Given the description of an element on the screen output the (x, y) to click on. 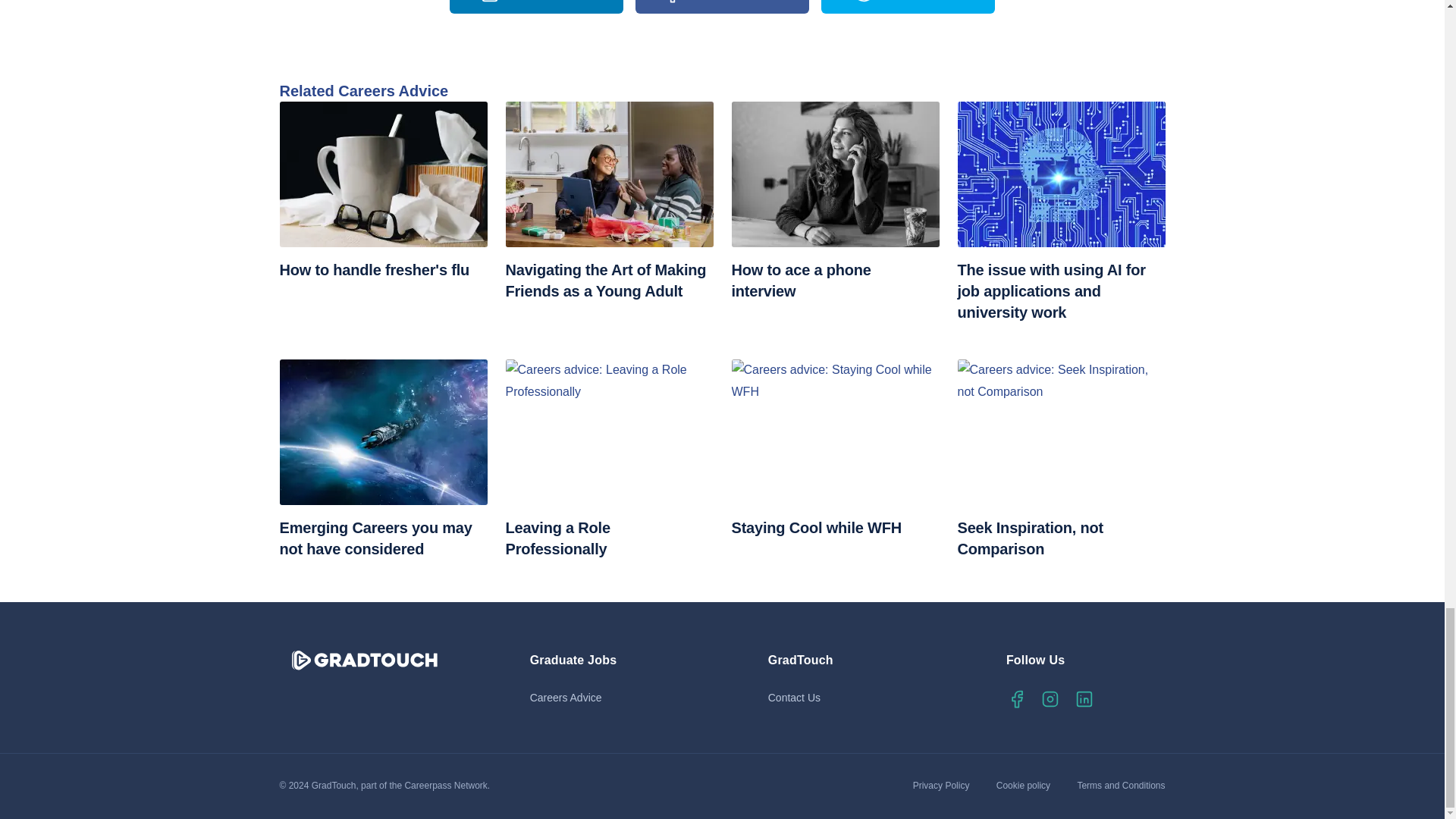
Privacy Policy (942, 785)
Careers Advice (603, 697)
Leaving a Role Professionally (609, 459)
Share on LinkedIn (535, 6)
Emerging Careers you may not have considered (382, 459)
Share on Facebook (721, 6)
How to handle fresher's flu (382, 190)
Staying Cool while WFH (834, 448)
Navigating the Art of Making Friends as a Young Adult (609, 201)
